Given the description of an element on the screen output the (x, y) to click on. 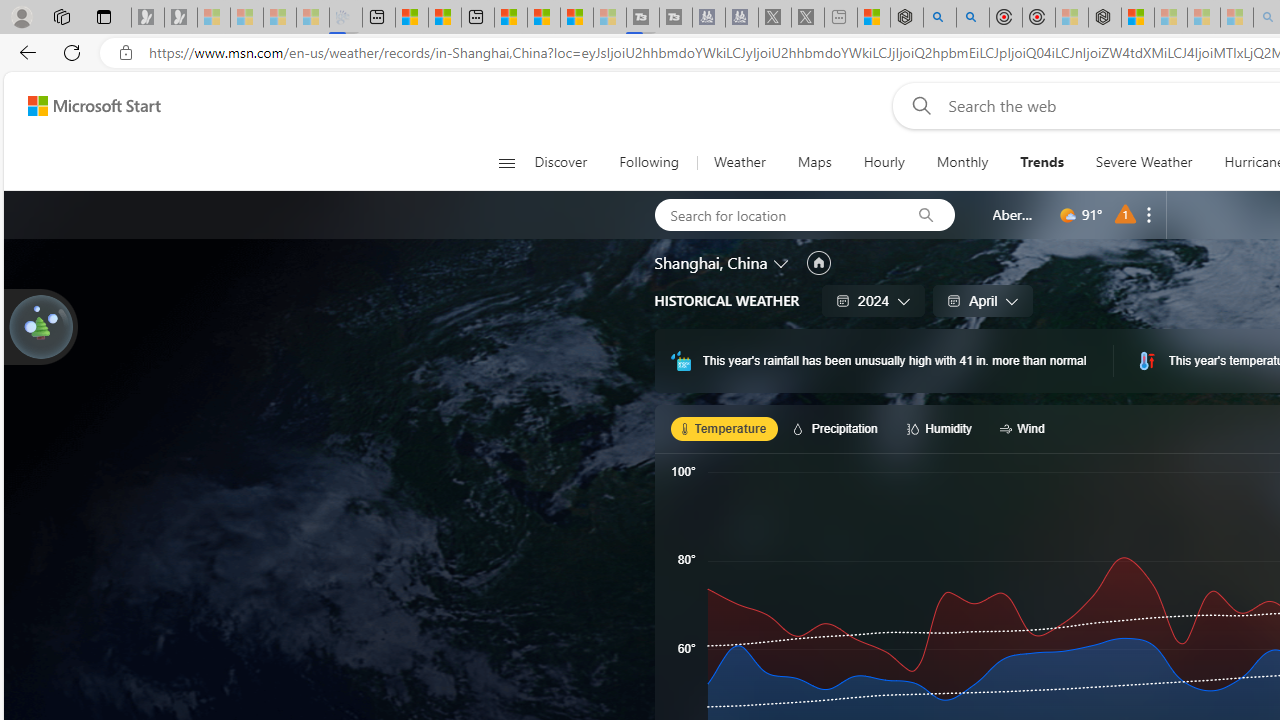
Severe Weather (1143, 162)
Web search (917, 105)
Hourly (883, 162)
Join us in planting real trees to help our planet! (40, 327)
Monthly (962, 162)
April (982, 300)
Shanghai, China (711, 263)
